Given the description of an element on the screen output the (x, y) to click on. 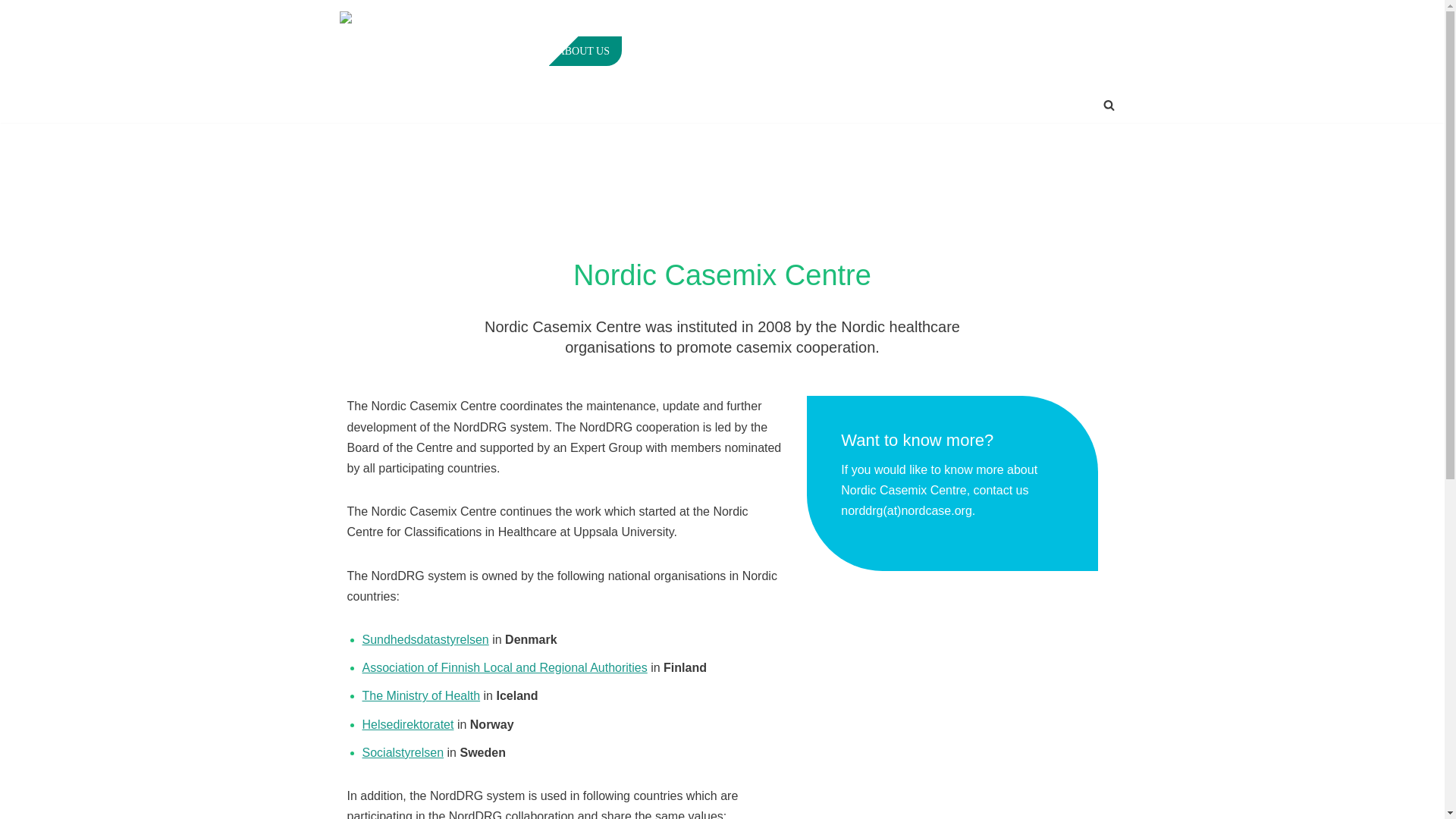
PRINCIPLES (663, 50)
ABOUT US (583, 50)
PRODUCTS (858, 50)
Skip to content (11, 31)
CONTACT INFORMATION (1056, 50)
MATERIALS (941, 50)
NORDDRG FORUM (763, 50)
